Given the description of an element on the screen output the (x, y) to click on. 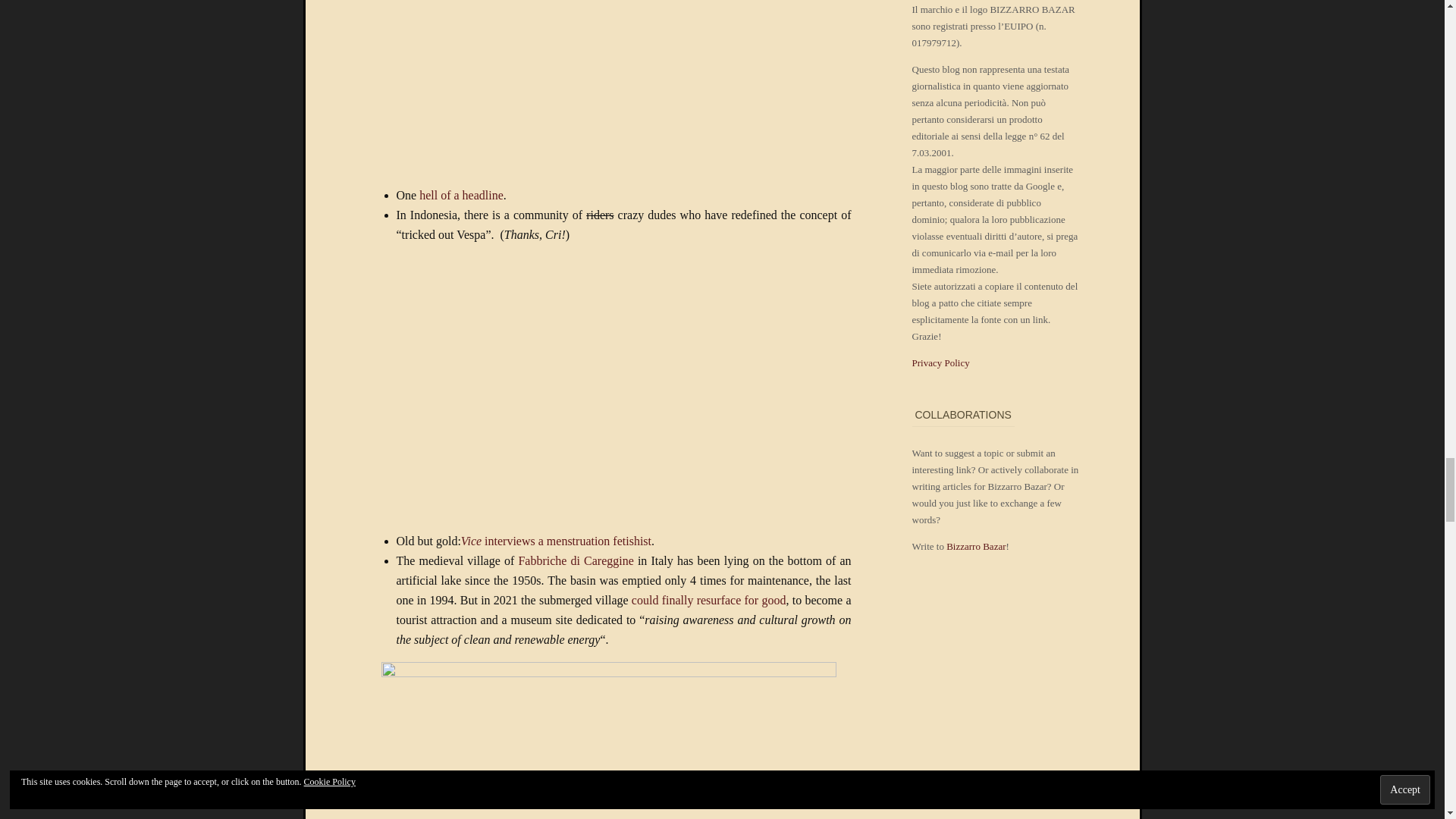
Fabbriche di Careggine (575, 560)
could finally resurface for good (708, 599)
Vice interviews a menstruation fetishist (555, 540)
hell of a headline (461, 195)
